Given the description of an element on the screen output the (x, y) to click on. 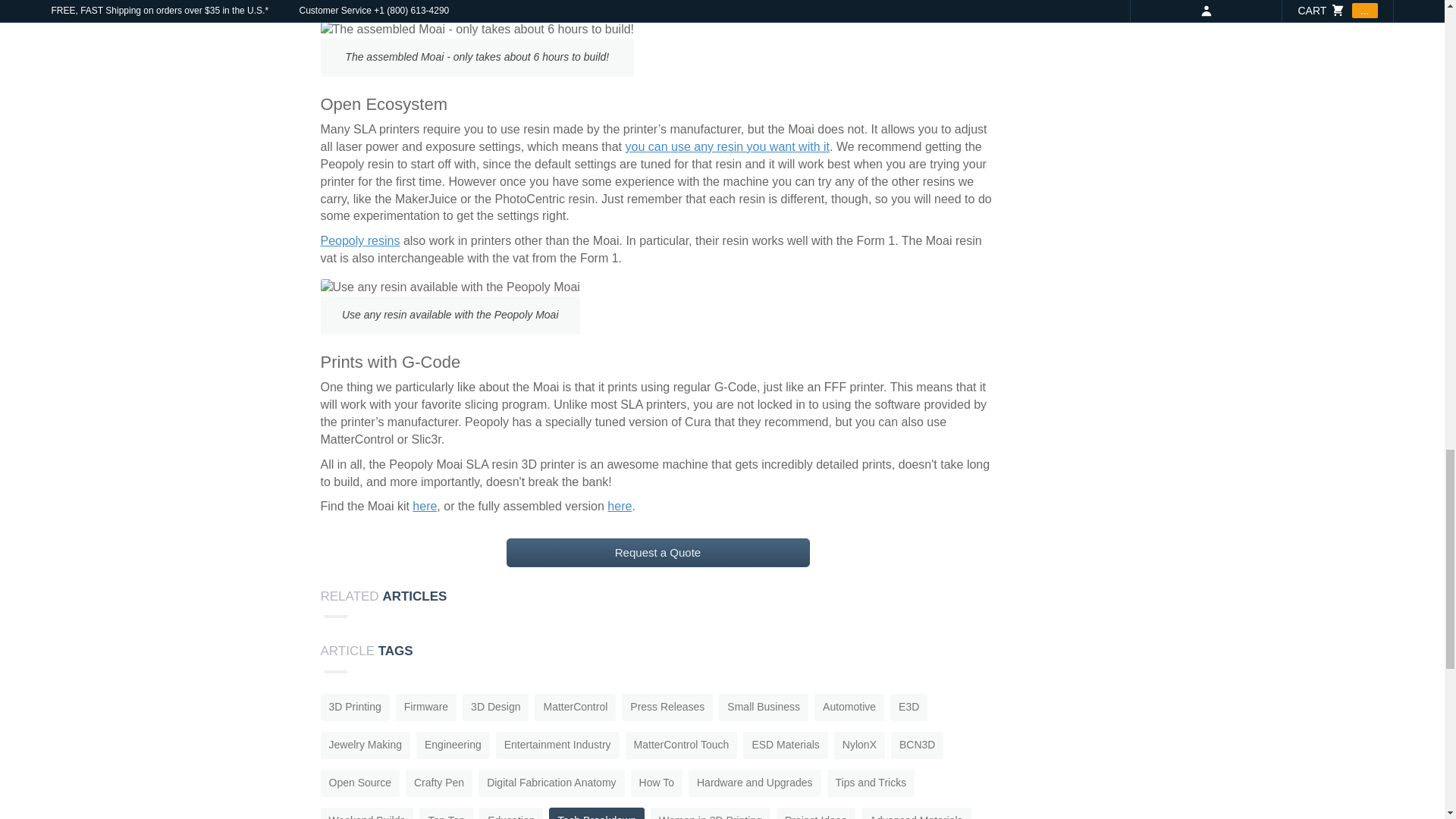
Use any resin available with the Peopoly Moai  (449, 287)
The assembled Moai - only takes about 6 hours to build!  (476, 29)
